Given the description of an element on the screen output the (x, y) to click on. 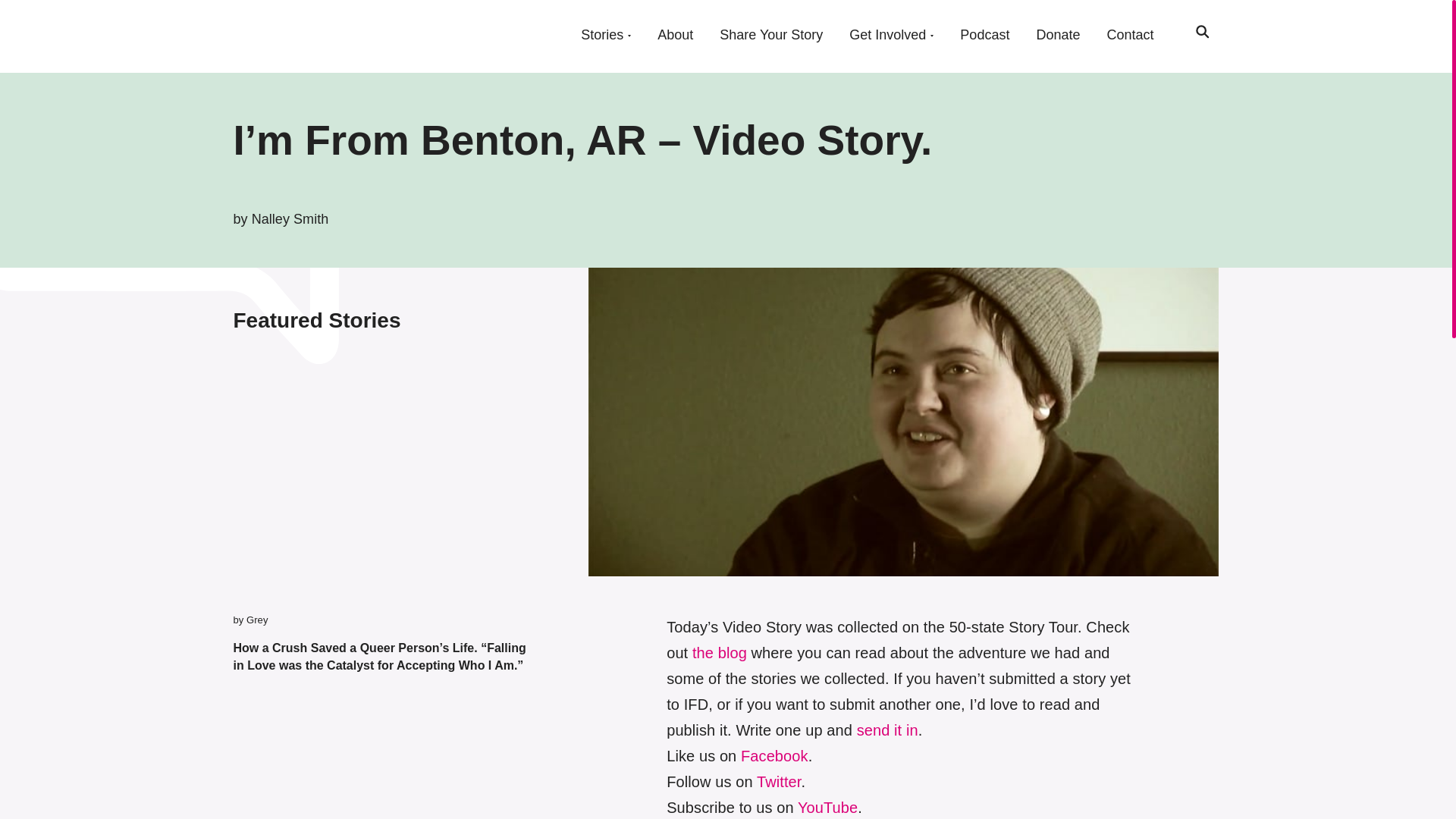
Share Your Story (770, 34)
Donate (1057, 34)
Contact (1129, 34)
YouTube (827, 807)
Get Involved (887, 34)
About (675, 34)
Twitter (779, 781)
Podcast (984, 34)
Stories (601, 34)
Facebook (774, 755)
